Given the description of an element on the screen output the (x, y) to click on. 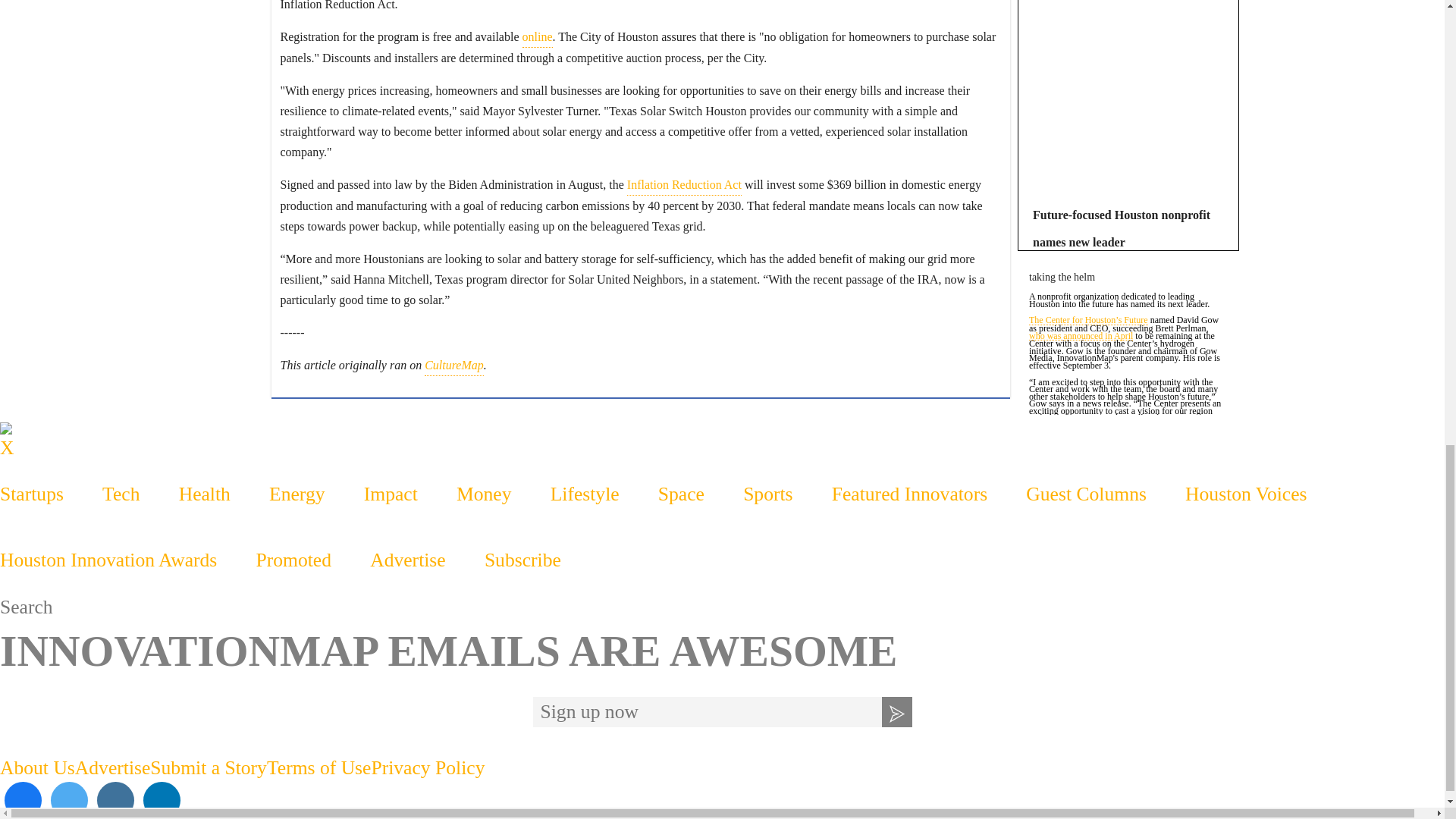
online (536, 36)
Inflation Reduction Act (684, 184)
who was announced in April (1080, 336)
Future-focused Houston nonprofit names new leader (1120, 228)
CultureMap (454, 364)
